Given the description of an element on the screen output the (x, y) to click on. 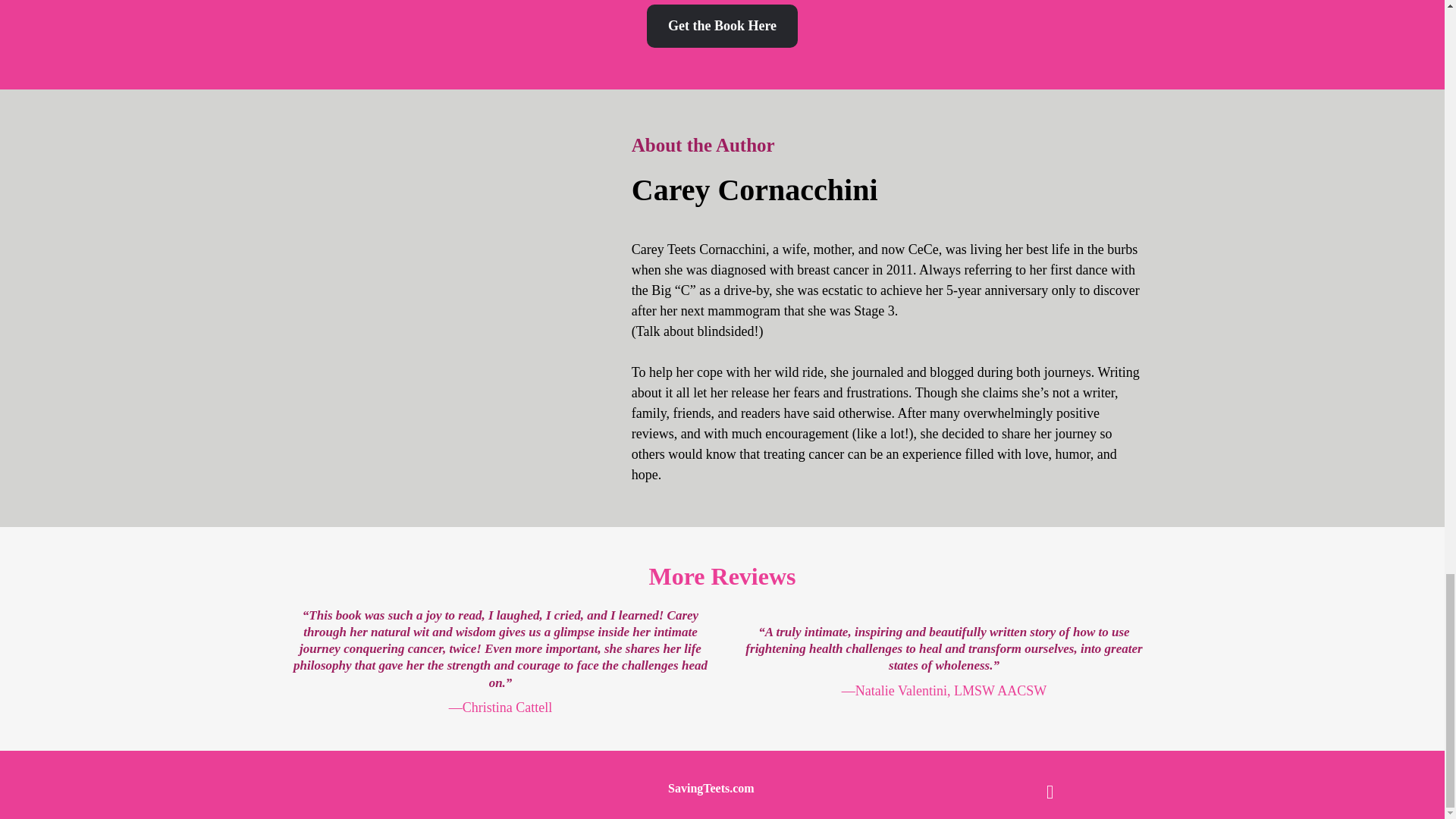
SavingTeets.com (710, 788)
Get the Book Here (721, 25)
